Given the description of an element on the screen output the (x, y) to click on. 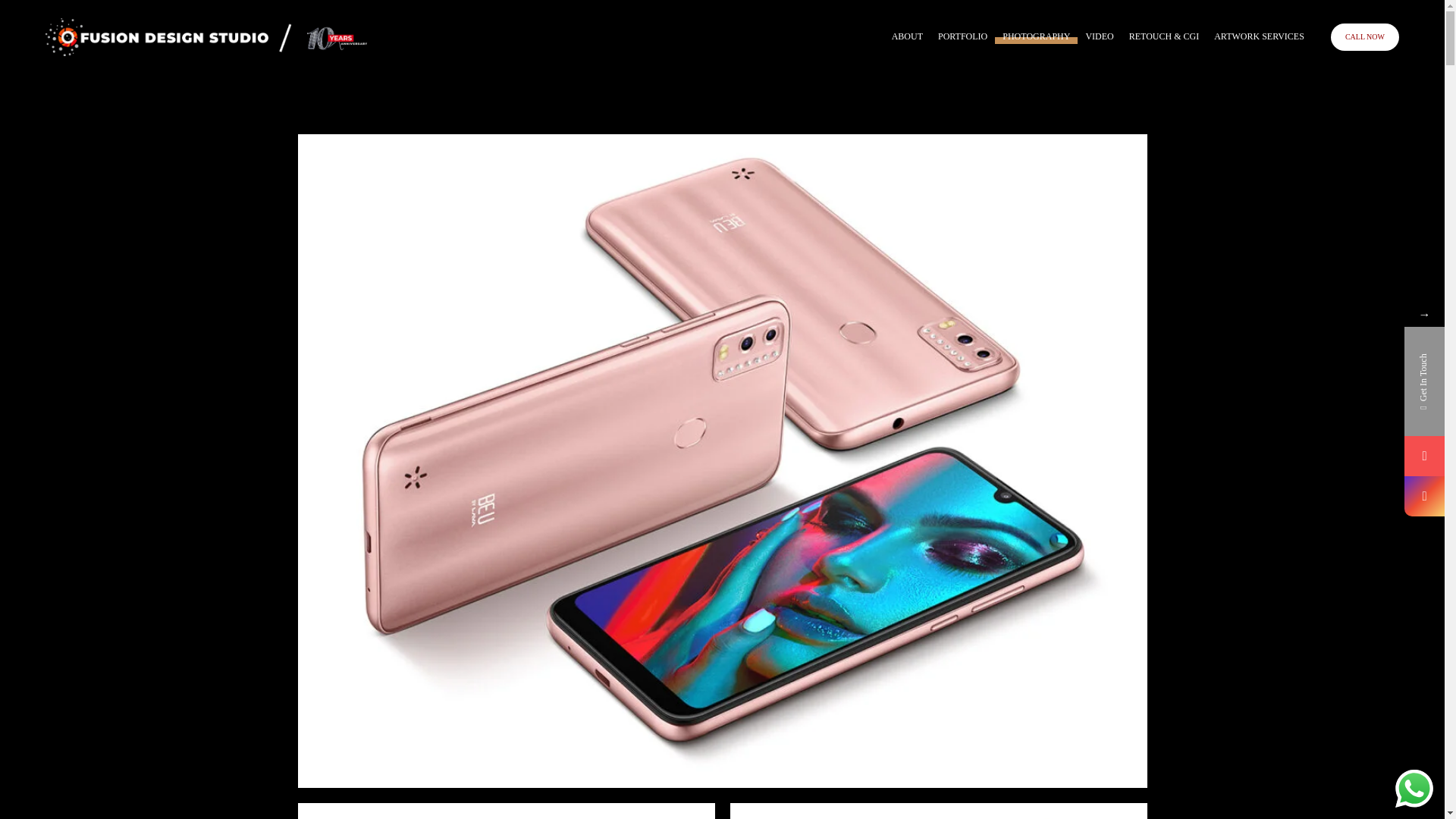
ARTWORK SERVICES (1259, 36)
PHOTOGRAPHY (1035, 36)
WhatsApp us (1413, 788)
CALL NOW (1364, 35)
PORTFOLIO (962, 36)
